Given the description of an element on the screen output the (x, y) to click on. 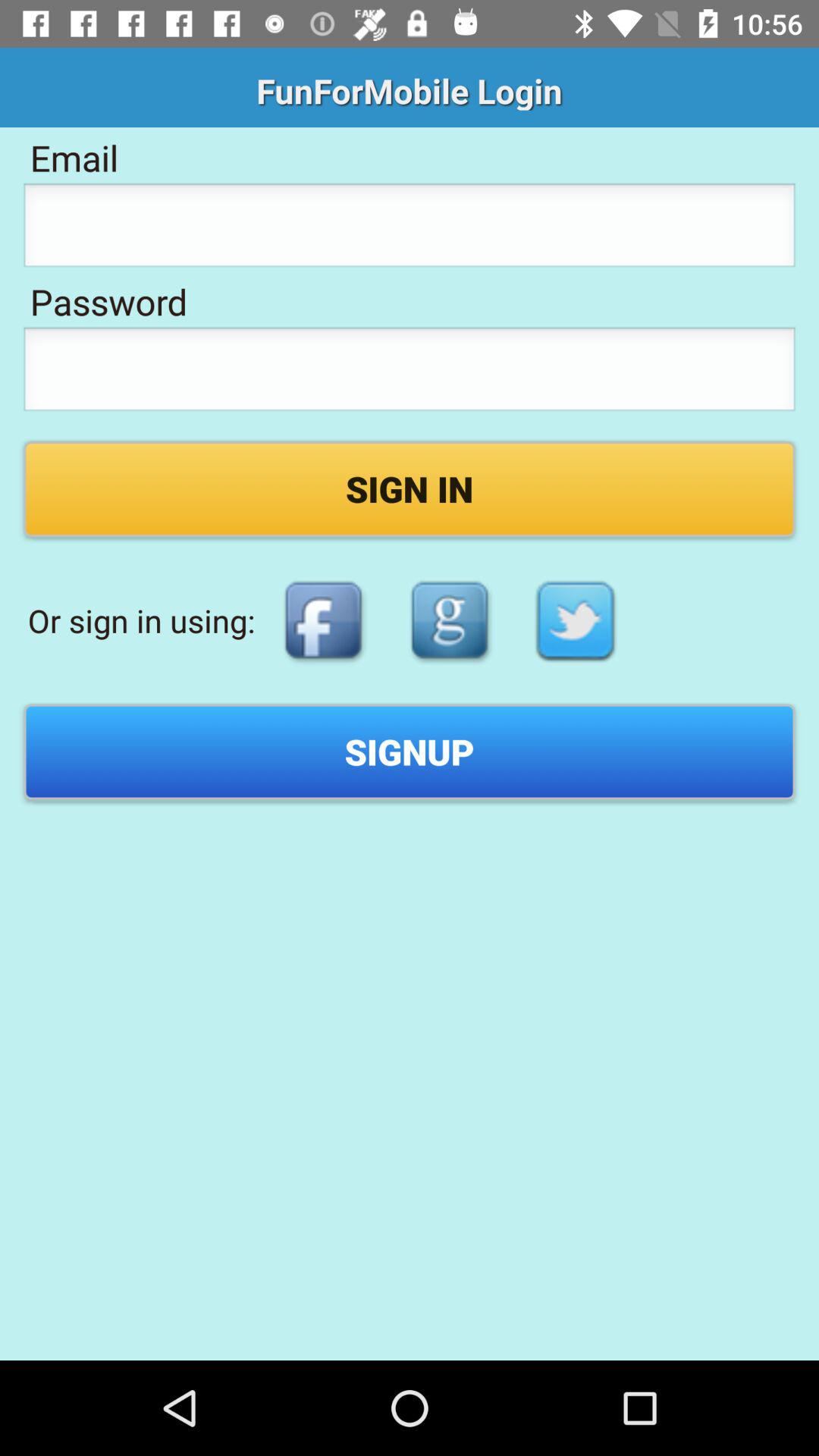
go facebook (323, 620)
